Given the description of an element on the screen output the (x, y) to click on. 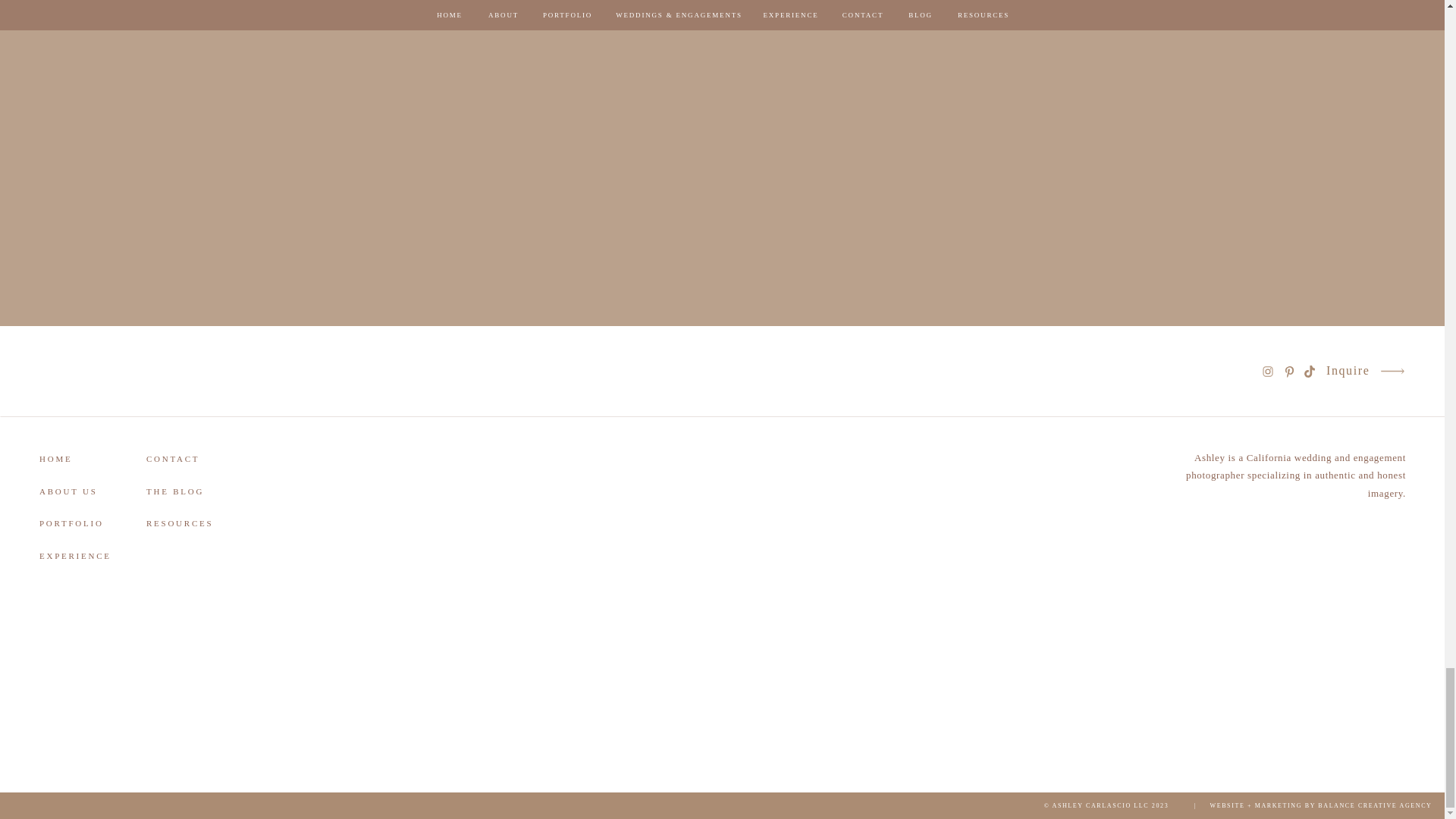
arrow (1392, 370)
